Given the description of an element on the screen output the (x, y) to click on. 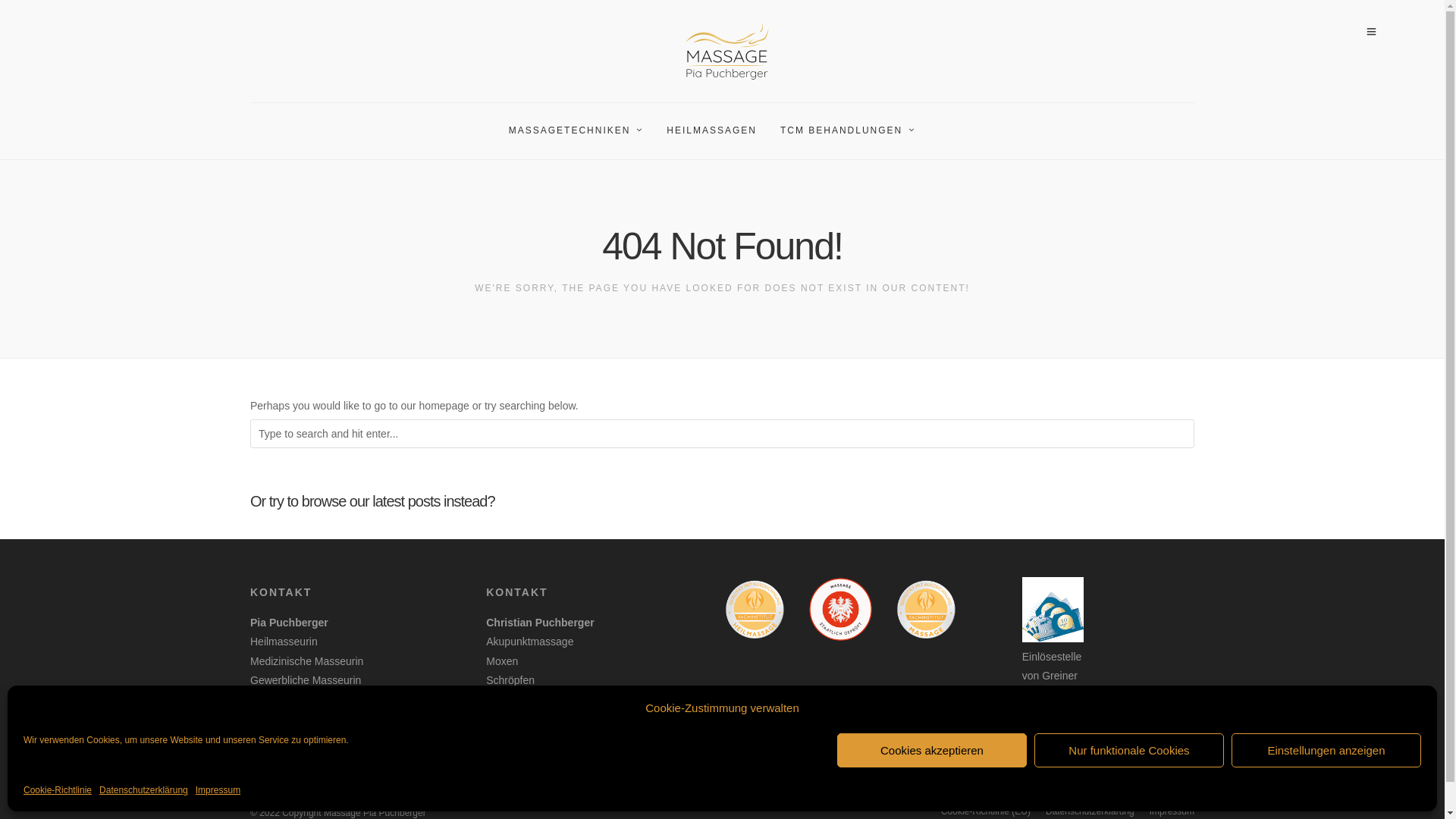
Cookie-Richtlinie (EU) Element type: text (985, 811)
HEILMASSAGEN Element type: text (717, 131)
Impressum Element type: text (217, 790)
Einstellungen anzeigen Element type: text (1326, 750)
MASSAGETECHNIKEN Element type: text (582, 131)
Cookie-Richtlinie Element type: text (57, 790)
TCM BEHANDLUNGEN Element type: text (854, 131)
Impressum Element type: text (1171, 811)
Cookies akzeptieren Element type: text (931, 750)
Nur funktionale Cookies Element type: text (1128, 750)
christian@puchberger.cc Element type: text (580, 728)
massage@puchberger.cc Element type: text (345, 728)
